Given the description of an element on the screen output the (x, y) to click on. 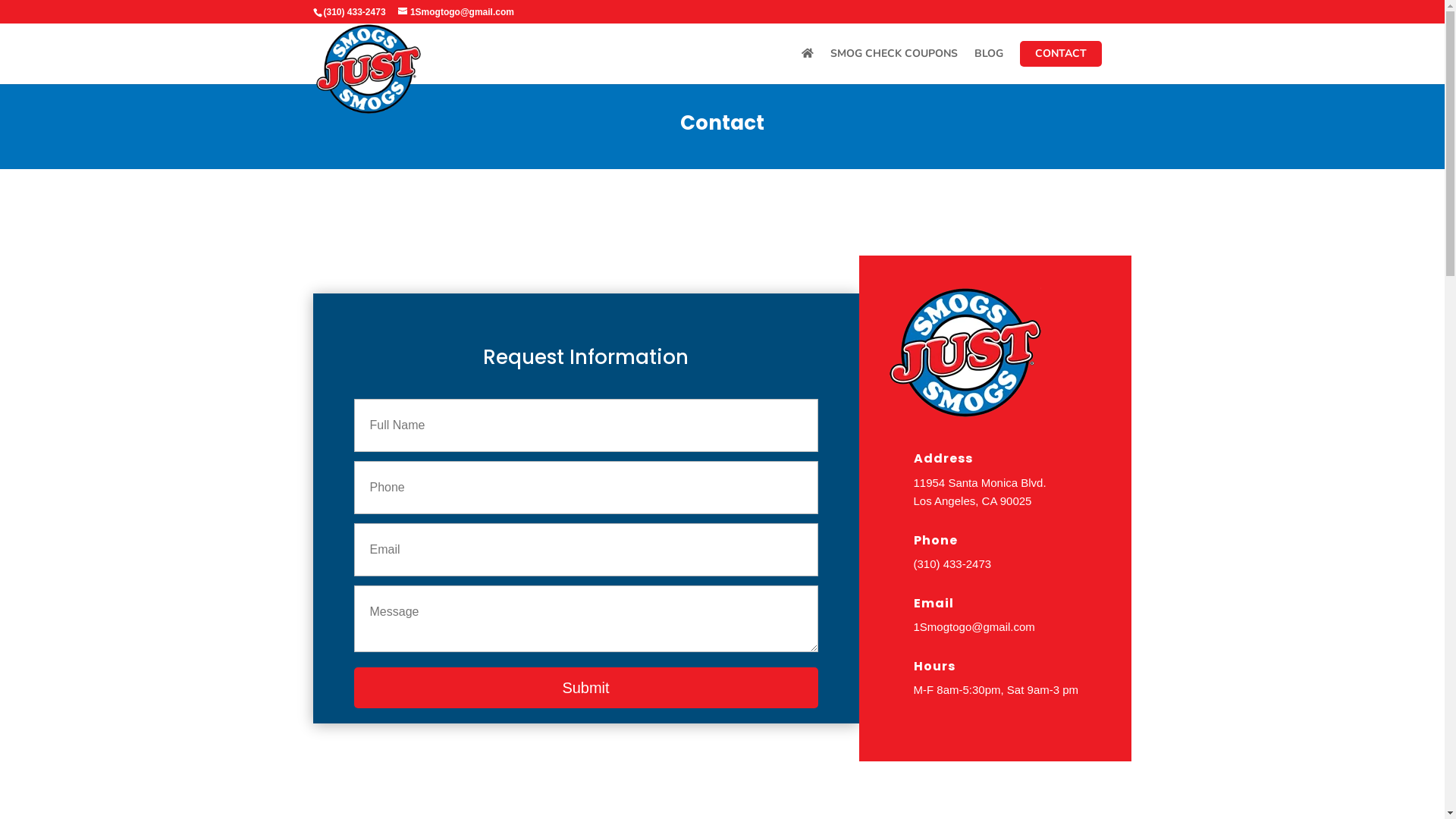
1Smogtogo@gmail.com Element type: text (973, 626)
(310) 433-2473 Element type: text (952, 563)
BLOG Element type: text (987, 66)
SMOG CHECK COUPONS Element type: text (893, 66)
Submit Element type: text (585, 687)
1Smogtogo@gmail.com Element type: text (456, 11)
justSmogLogo Element type: hover (964, 351)
(310) 433-2473 Element type: text (354, 11)
CONTACT Element type: text (1060, 53)
